Given the description of an element on the screen output the (x, y) to click on. 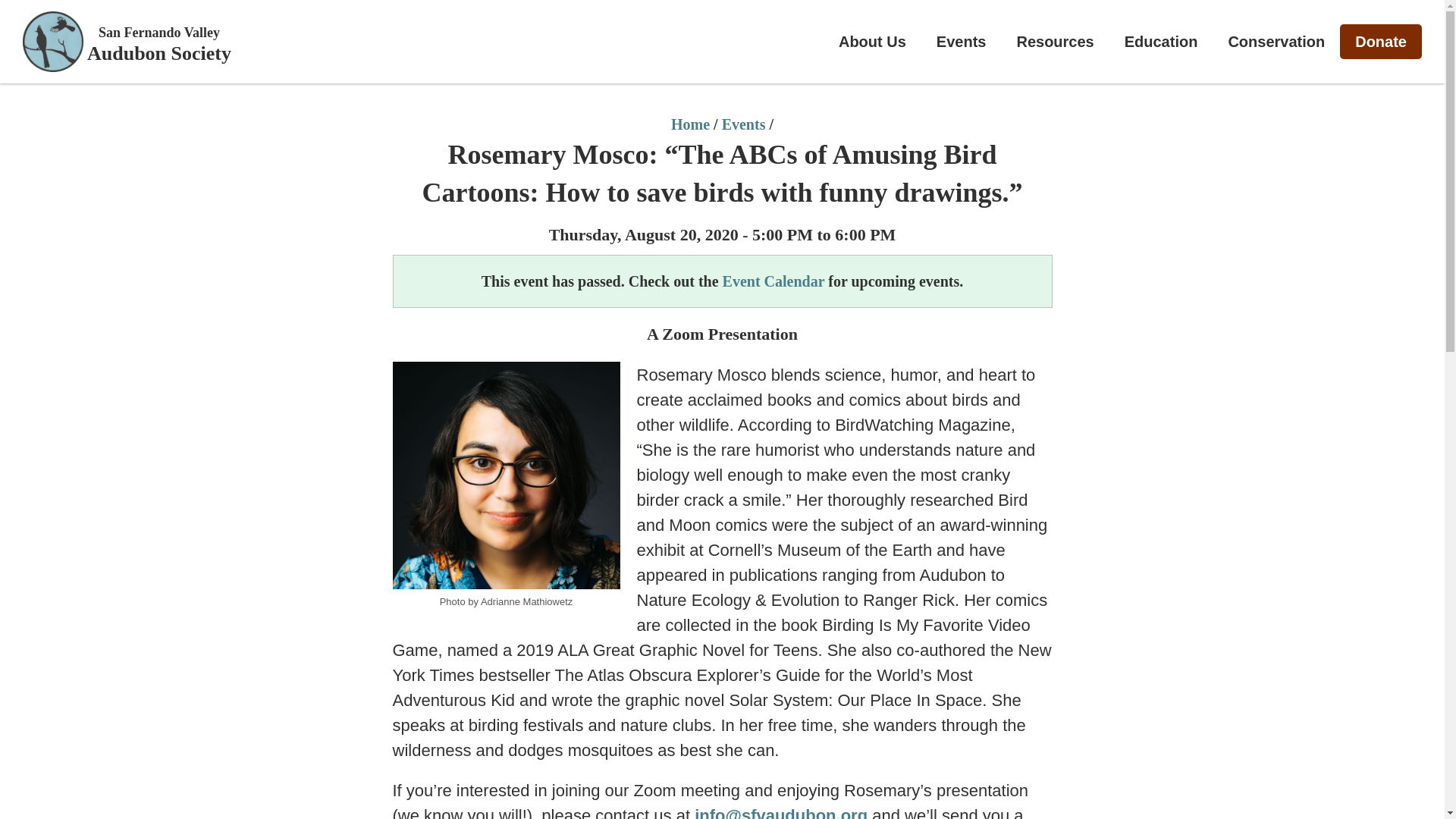
About Us (872, 41)
Education (1160, 41)
Resources (1054, 41)
Events (961, 41)
Conservation (156, 54)
